Given the description of an element on the screen output the (x, y) to click on. 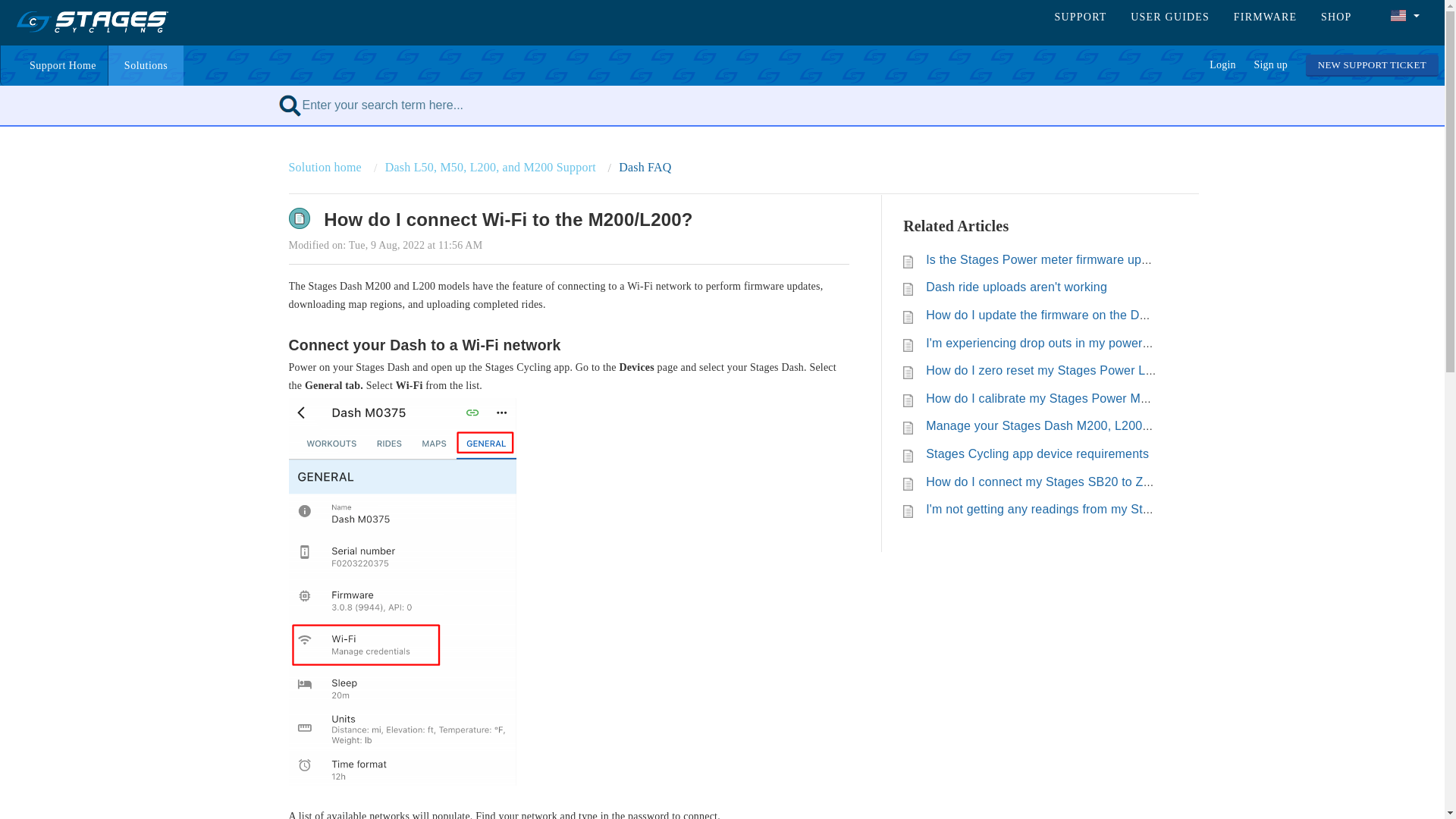
Support Home (53, 65)
SHOP (1331, 16)
Solutions (145, 65)
FIRMWARE (1260, 16)
USER GUIDES (1164, 16)
SUPPORT (1074, 16)
Login (1221, 64)
